Given the description of an element on the screen output the (x, y) to click on. 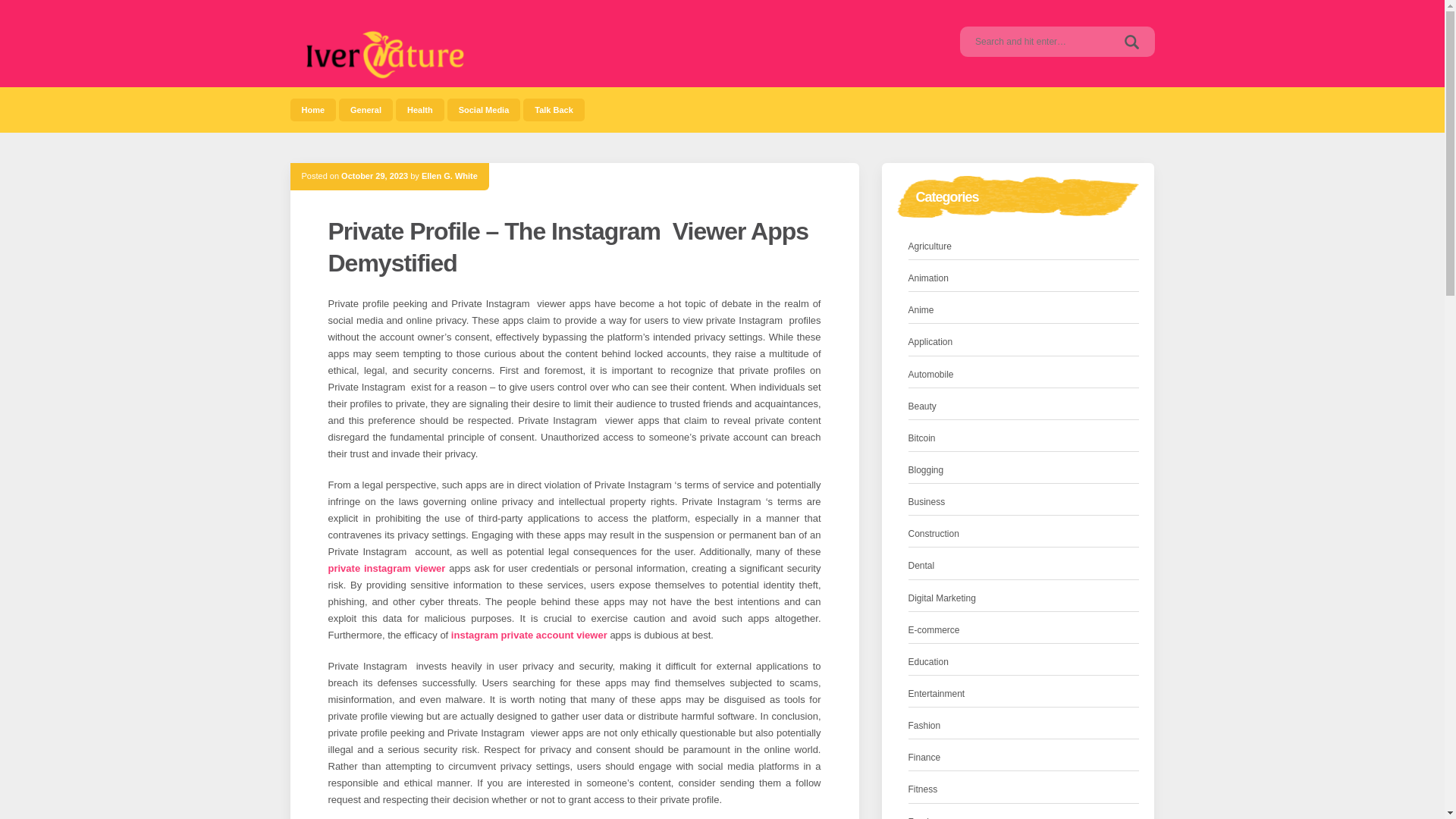
October 29, 2023 (373, 175)
Animation (928, 278)
E-commerce (933, 630)
Talk Back (553, 109)
Foods (920, 816)
instagram private account viewer (529, 634)
Fitness (922, 789)
Health (420, 109)
Search (1131, 41)
Entertainment (936, 693)
